Given the description of an element on the screen output the (x, y) to click on. 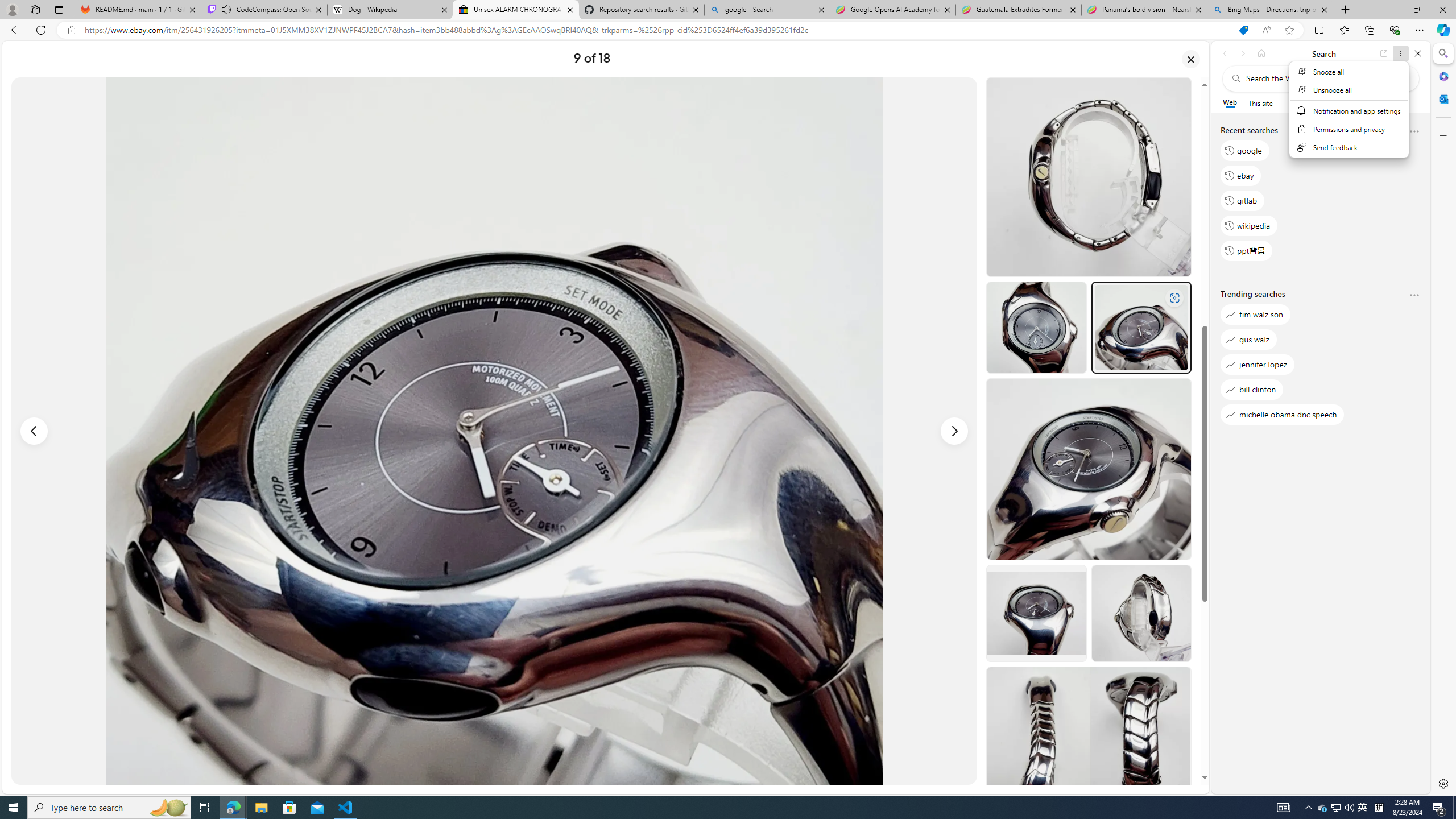
gus walz (1248, 339)
wikipedia (1249, 225)
michelle obama dnc speech (1281, 414)
google - Search (766, 9)
ebay (1240, 175)
